Given the description of an element on the screen output the (x, y) to click on. 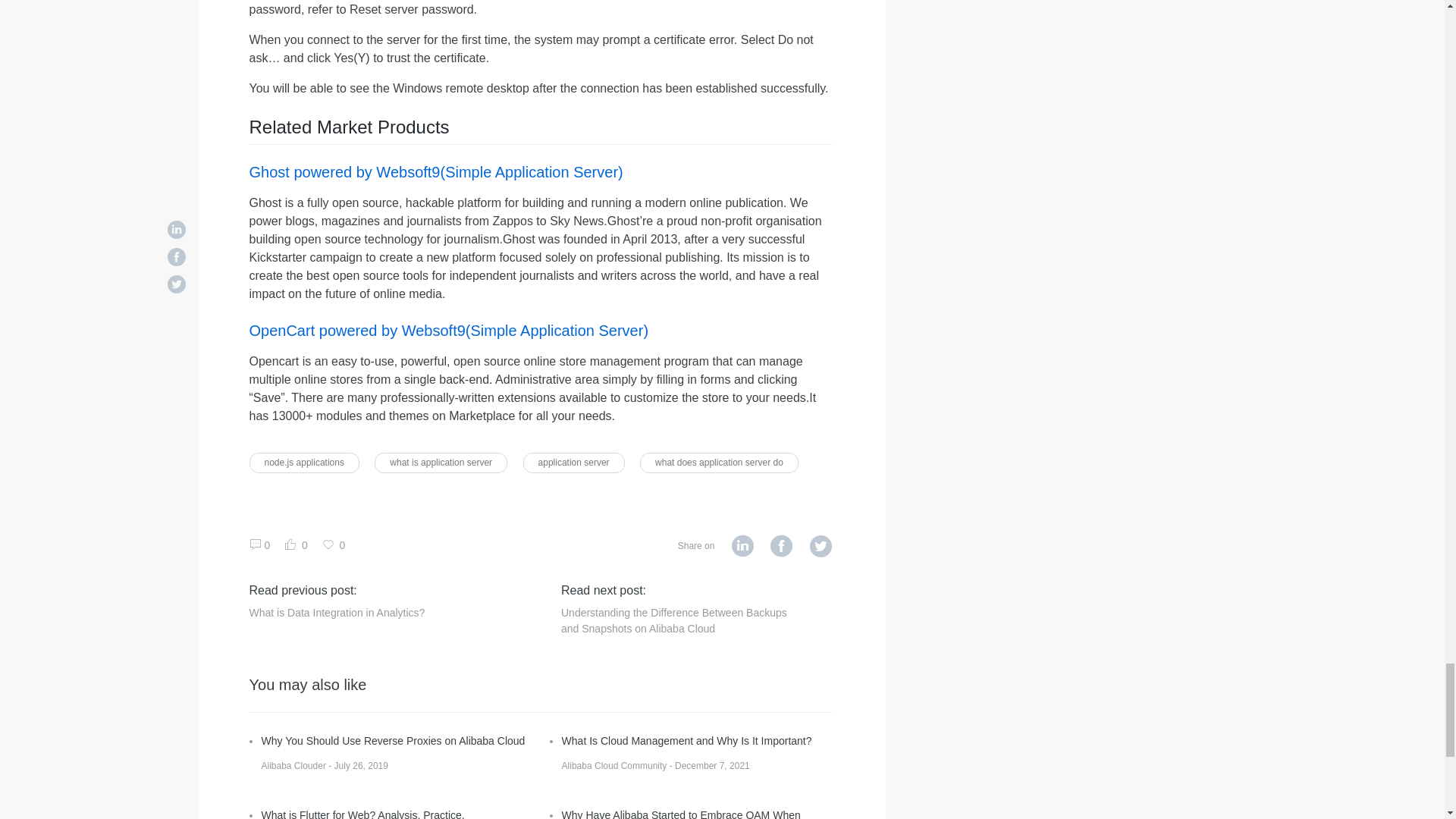
node.js applications (303, 462)
what is application server (440, 462)
application server (573, 462)
